Given the description of an element on the screen output the (x, y) to click on. 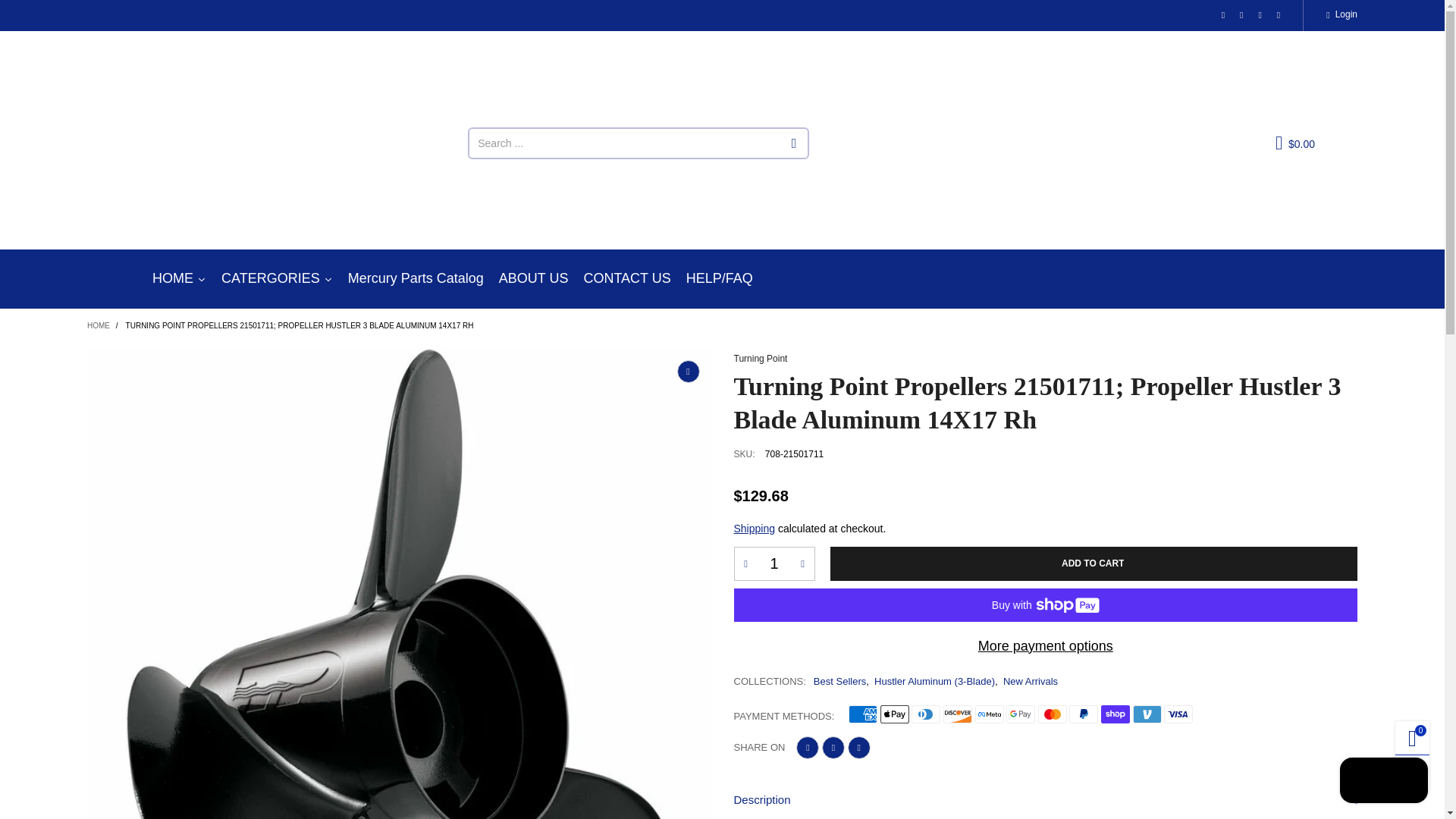
ABOUT US (534, 279)
Cart (1295, 143)
PayPal (1082, 714)
Mercury Parts Catalog (416, 279)
CONTACT US (626, 279)
Visa (1177, 714)
ABOUT US (534, 279)
Google Pay (1020, 714)
Clauss Marine (199, 149)
HOME (179, 279)
